Given the description of an element on the screen output the (x, y) to click on. 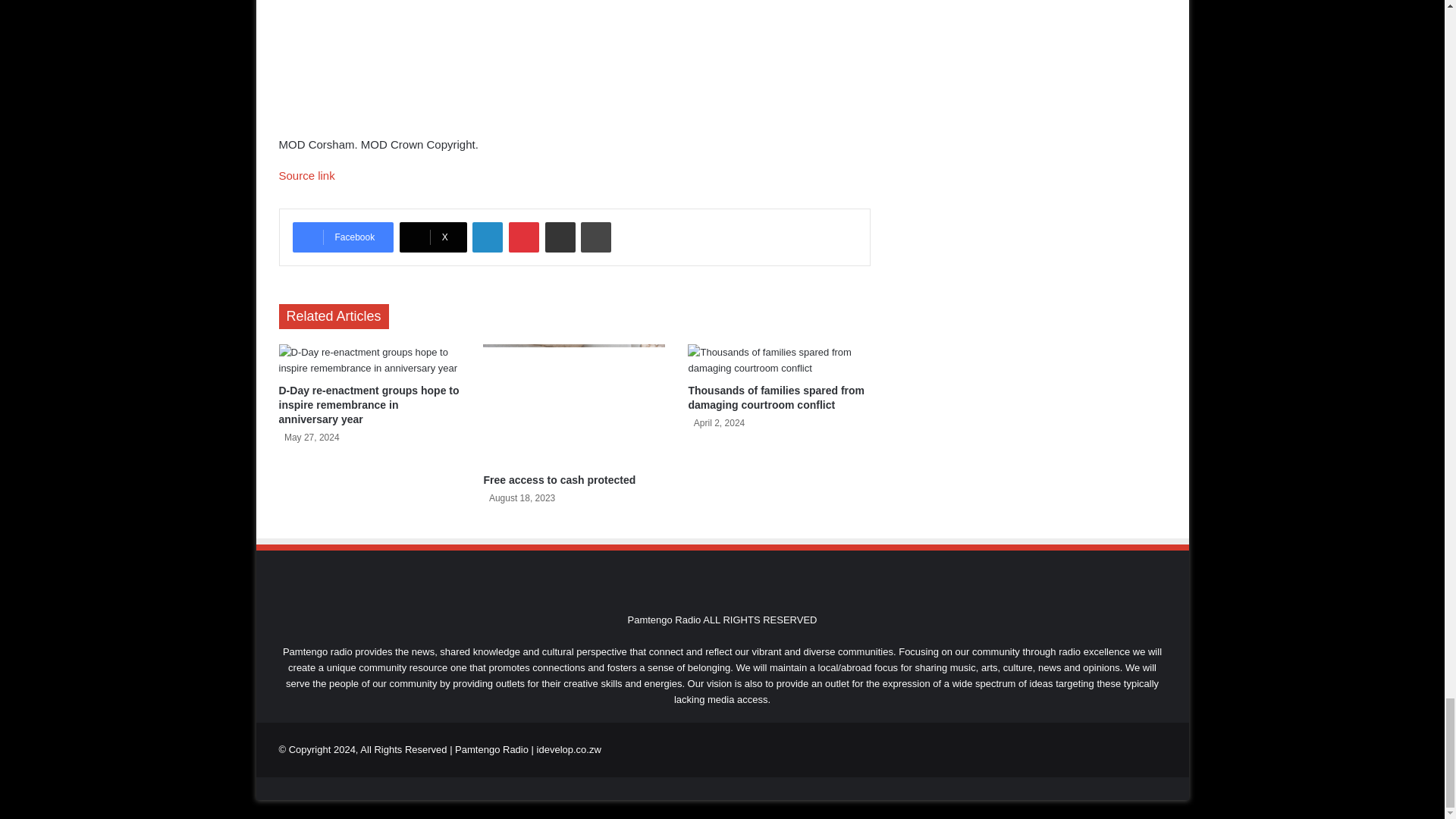
Facebook (343, 236)
Free access to cash protected (574, 404)
Pinterest (523, 236)
LinkedIn (486, 236)
Share via Email (559, 236)
Share via Email (559, 236)
Facebook (343, 236)
X (432, 236)
Source link (306, 174)
Print (595, 236)
Print (595, 236)
X (432, 236)
Pinterest (523, 236)
